Given the description of an element on the screen output the (x, y) to click on. 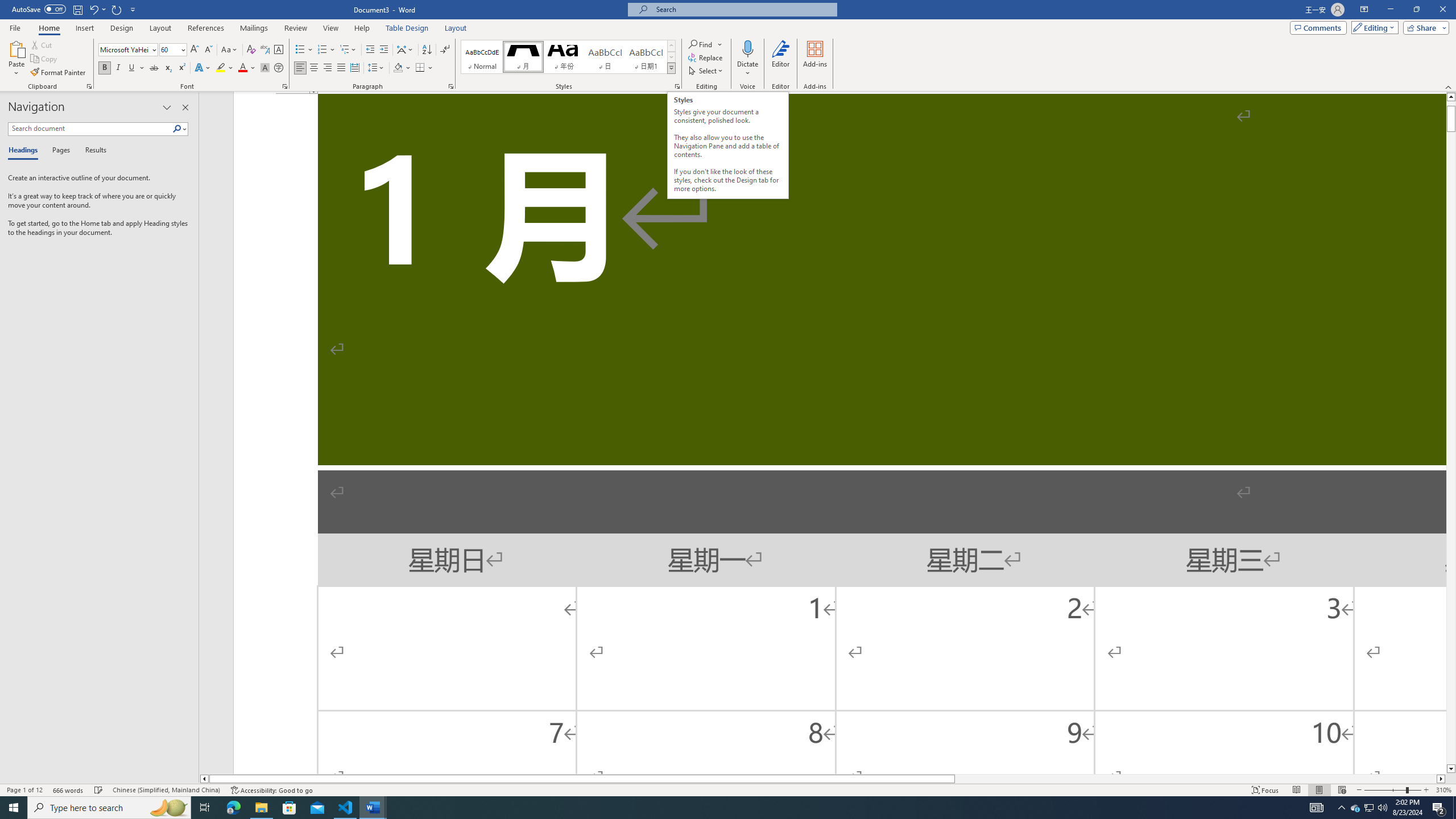
Font Size (172, 49)
Minimize (1390, 9)
Table Design (407, 28)
Column left (203, 778)
Paragraph... (450, 85)
Search (177, 128)
Row Down (670, 56)
Enclose Characters... (278, 67)
Change Case (229, 49)
Clear Formatting (250, 49)
Distributed (354, 67)
Pages (59, 150)
Page down (1450, 447)
Format Painter (58, 72)
